Given the description of an element on the screen output the (x, y) to click on. 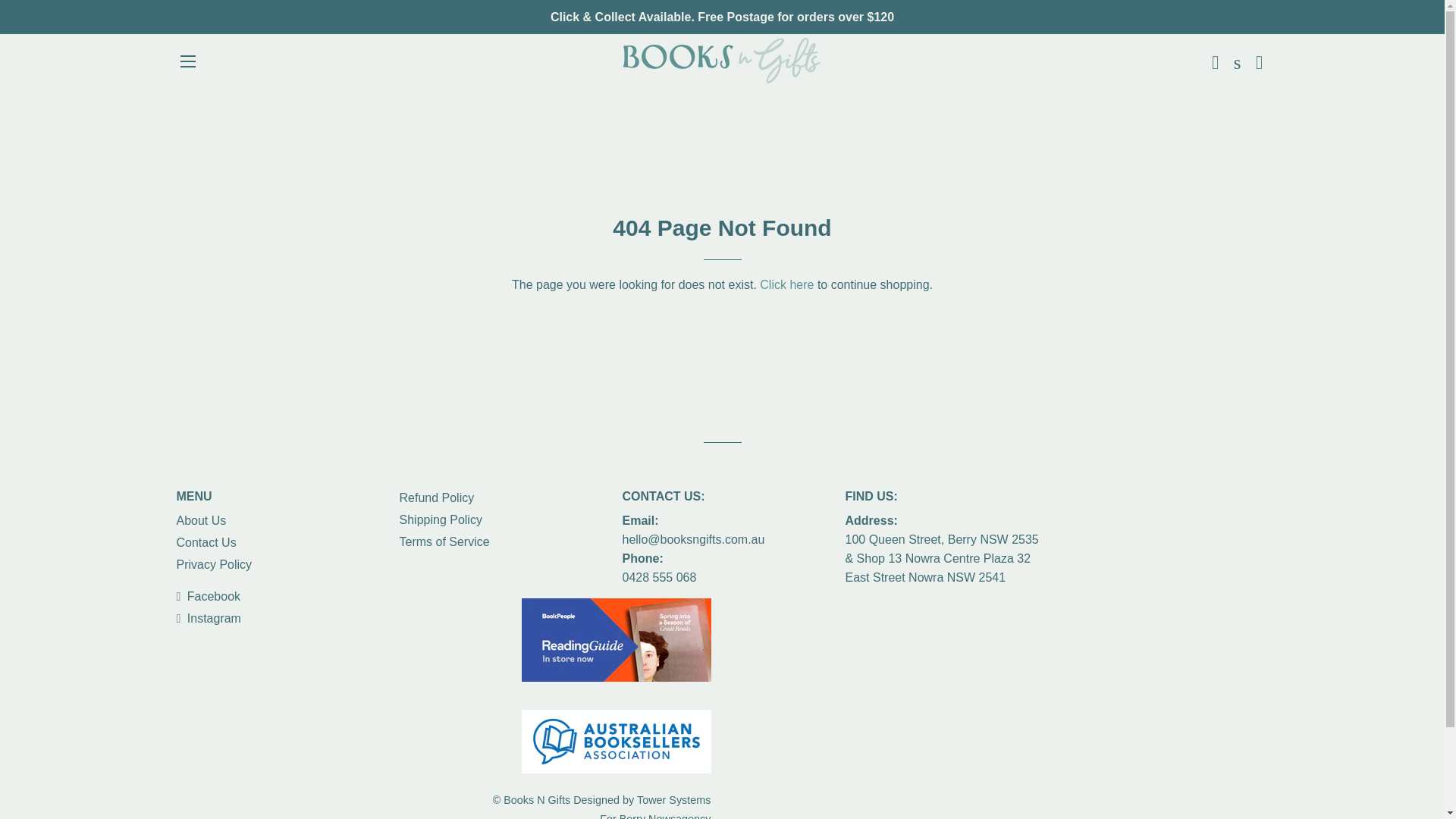
Books N Gifts on Facebook (208, 595)
Books N Gifts on Instagram (208, 617)
